Given the description of an element on the screen output the (x, y) to click on. 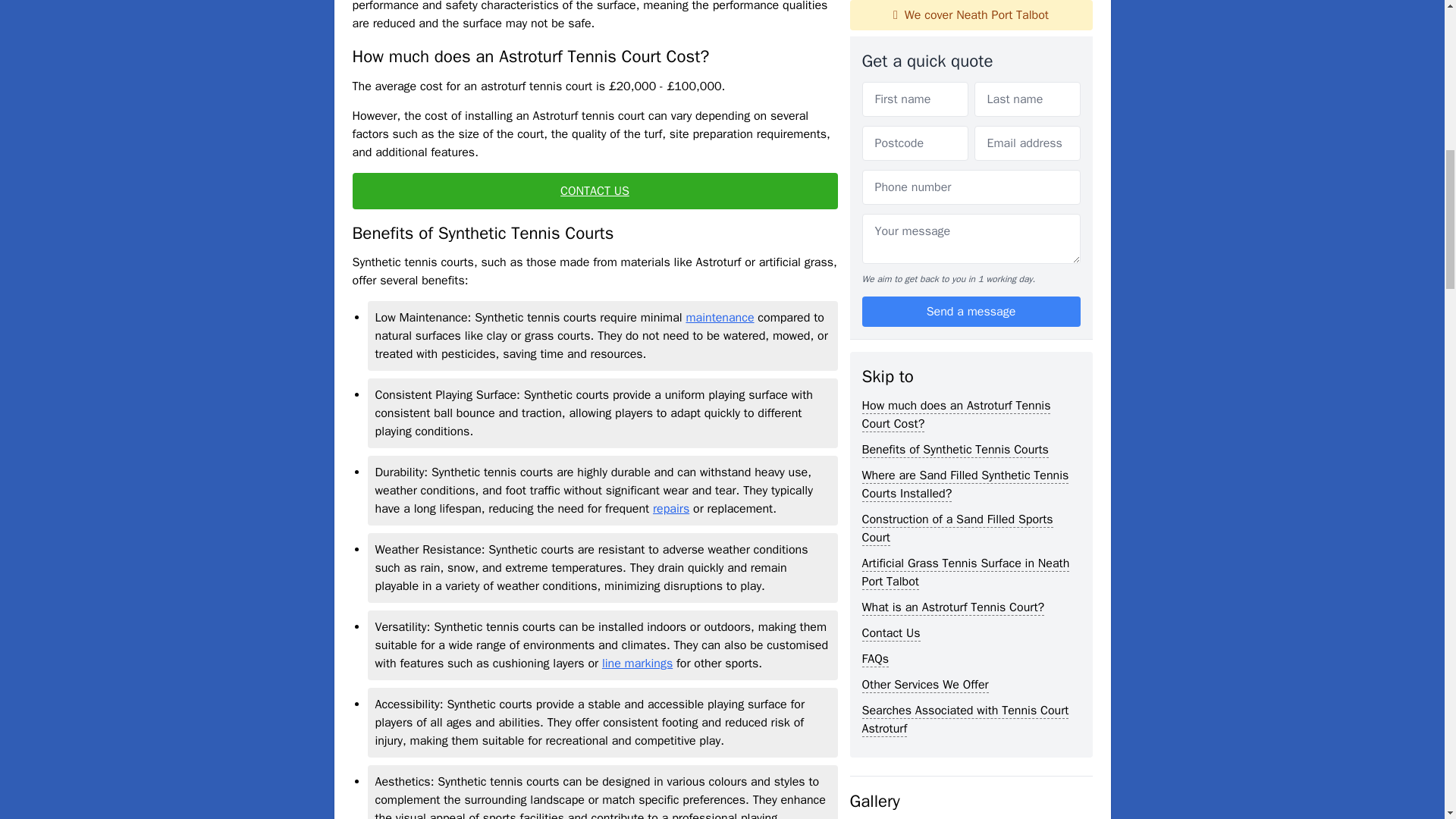
Contact Us (890, 252)
Other Services We Offer (924, 303)
Searches Associated with Tennis Court Astroturf (964, 338)
FAQs (874, 277)
Construction of a Sand Filled Sports Court (956, 147)
How much does an Astroturf Tennis Court Cost? (955, 33)
Artificial Grass Tennis Surface in Neath Port Talbot (964, 191)
Benefits of Synthetic Tennis Courts (954, 68)
Where are Sand Filled Synthetic Tennis Courts Installed? (964, 103)
What is an Astroturf Tennis Court? (952, 226)
